Given the description of an element on the screen output the (x, y) to click on. 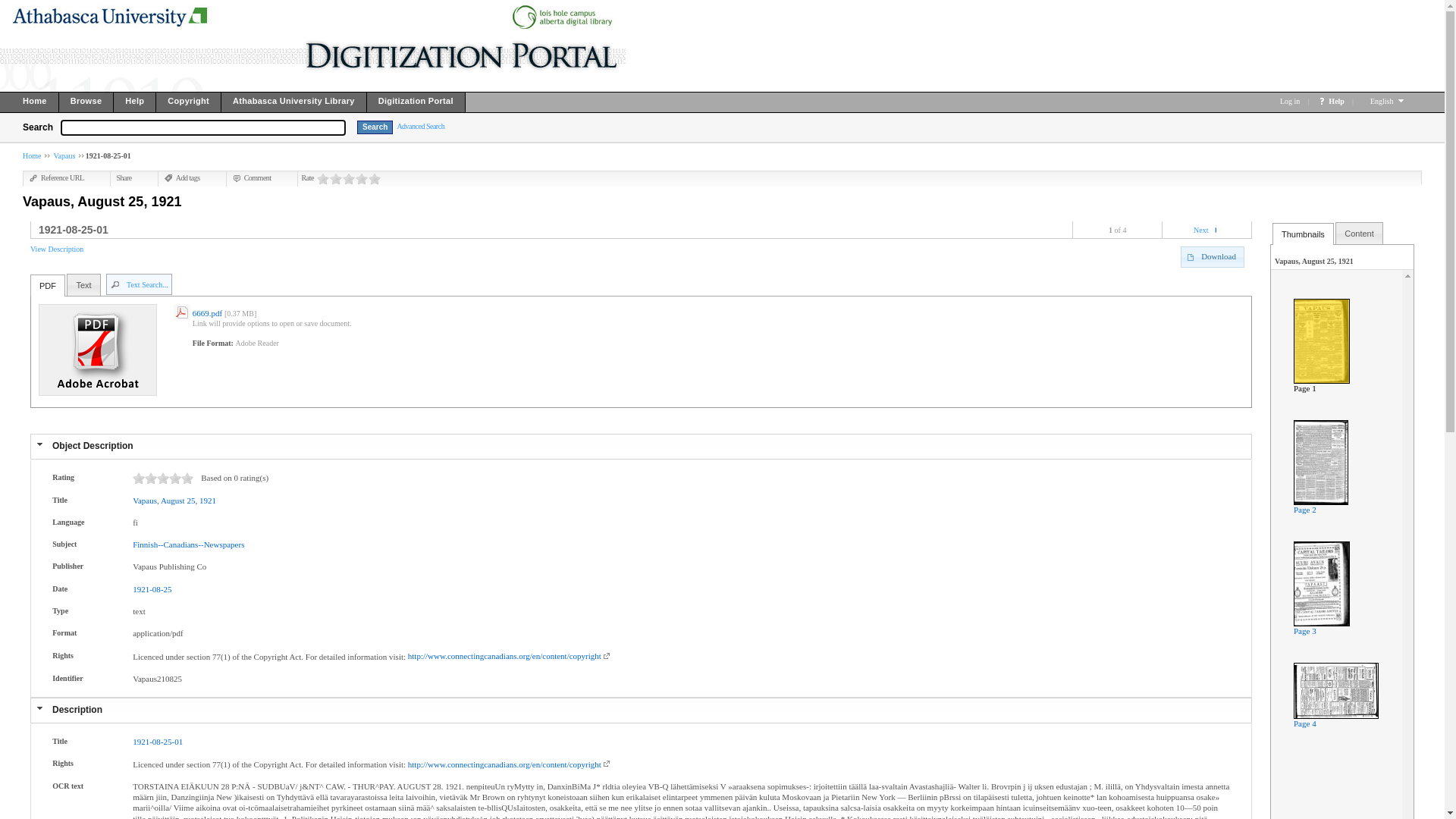
View Description Element type: text (56, 248)
Home Element type: text (29, 104)
Browse Element type: text (86, 104)
Content Element type: text (1359, 233)
2 Element type: text (335, 178)
August Element type: text (172, 500)
Next Element type: text (1200, 229)
13 Element type: text (175, 477)
Page 3 Element type: text (1304, 630)
5 Element type: text (150, 477)
Text Element type: text (83, 284)
5 Element type: text (374, 178)
Vapaus Element type: text (144, 500)
Page 2 Element type: text (1304, 509)
Copyright Element type: text (188, 104)
Help Element type: text (134, 104)
http://www.connectingcanadians.org/en/content/copyright Element type: text (510, 655)
Finnish--Canadians--Newspapers Element type: text (188, 544)
Reference URL Element type: text (56, 177)
Digitization Portal Element type: text (416, 104)
http://www.connectingcanadians.org/en/content/copyright Element type: text (510, 763)
1921-08-25-01 Element type: text (157, 741)
Help Element type: text (1336, 101)
Thumbnails Element type: text (1303, 233)
3 Element type: text (348, 178)
Add tags Element type: text (182, 177)
25 Element type: text (190, 500)
1921-08-25 Element type: text (151, 588)
Share Element type: text (123, 177)
1921 Element type: text (207, 500)
4 Element type: text (361, 178)
9 Element type: text (162, 477)
Page 1 Element type: text (1304, 387)
1 Element type: text (322, 178)
Advanced Search Element type: text (420, 126)
Athabasca University Library Element type: text (294, 104)
1 Element type: text (138, 477)
English Element type: text (1382, 101)
Vapaus Element type: text (64, 155)
Comment Element type: text (251, 177)
PDF Element type: text (47, 285)
Page 4 Element type: text (1304, 723)
17 Element type: text (187, 477)
Object Description Element type: text (92, 445)
Home Element type: text (31, 155)
Description Element type: text (77, 709)
Log in Element type: text (1289, 101)
6669.pdf Element type: text (208, 312)
